Given the description of an element on the screen output the (x, y) to click on. 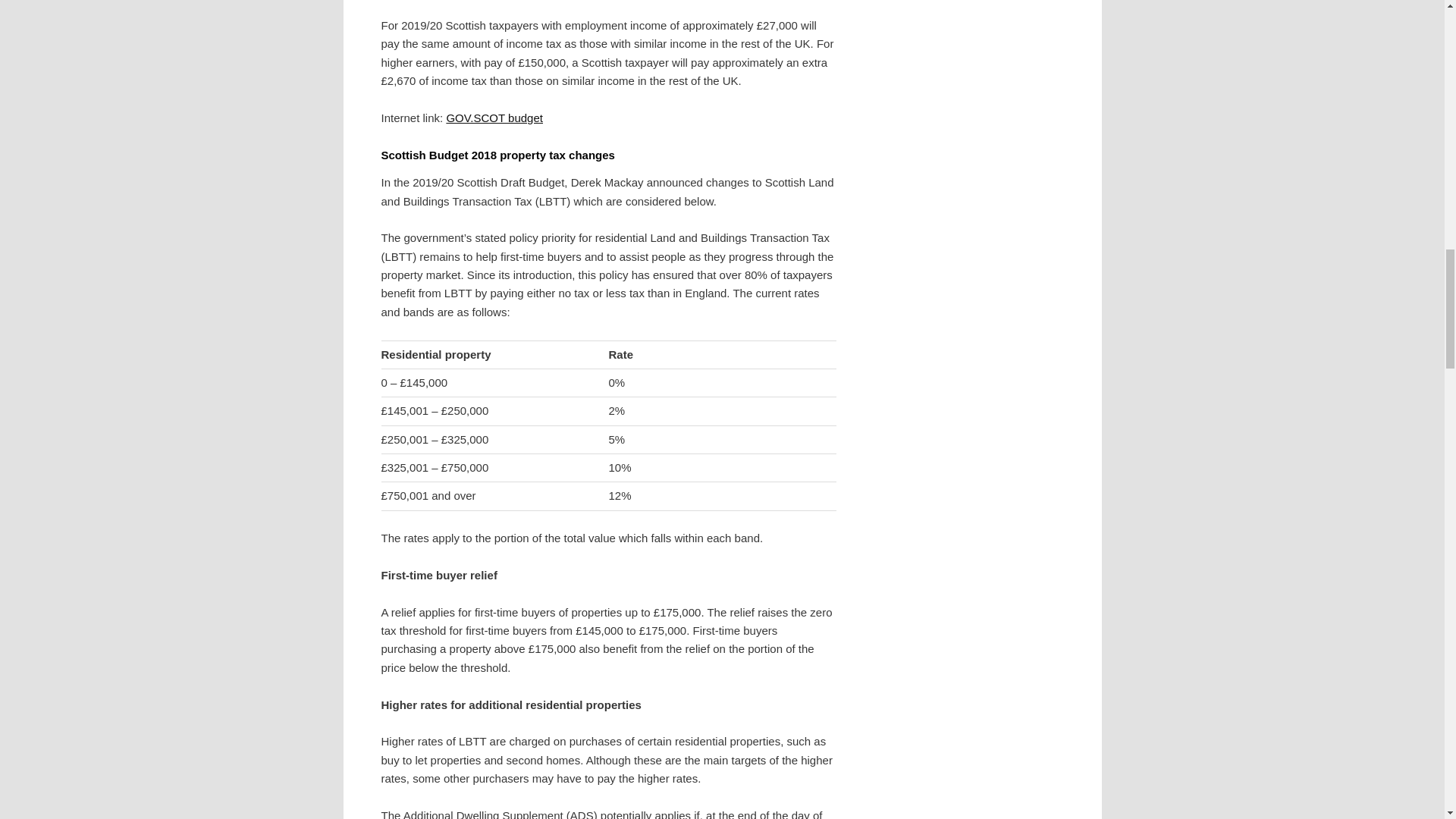
GOV.SCOT budget (494, 117)
